Given the description of an element on the screen output the (x, y) to click on. 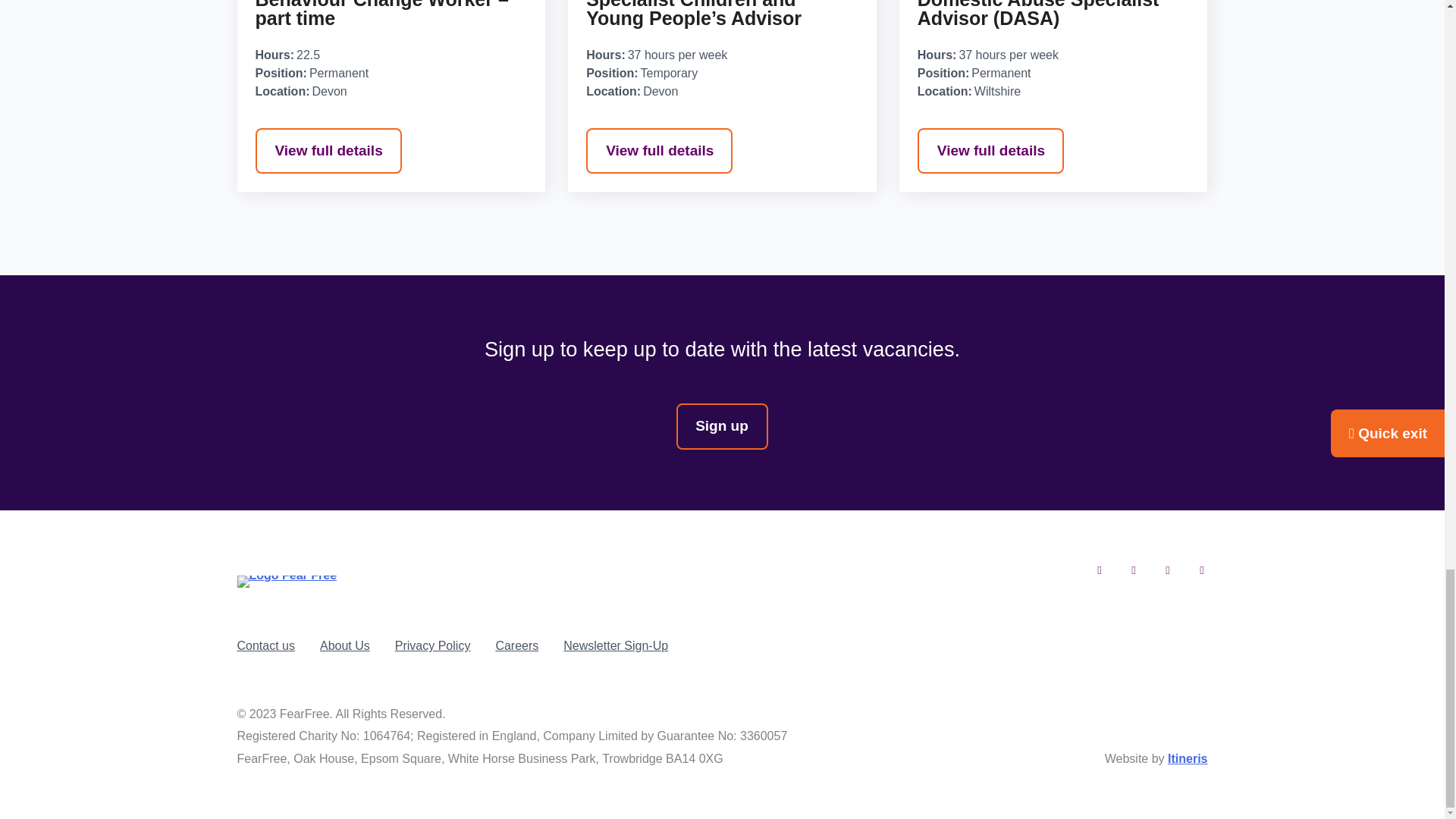
Logo Fear Free (285, 581)
View full details (327, 150)
View full details (659, 150)
View full details (990, 150)
